Given the description of an element on the screen output the (x, y) to click on. 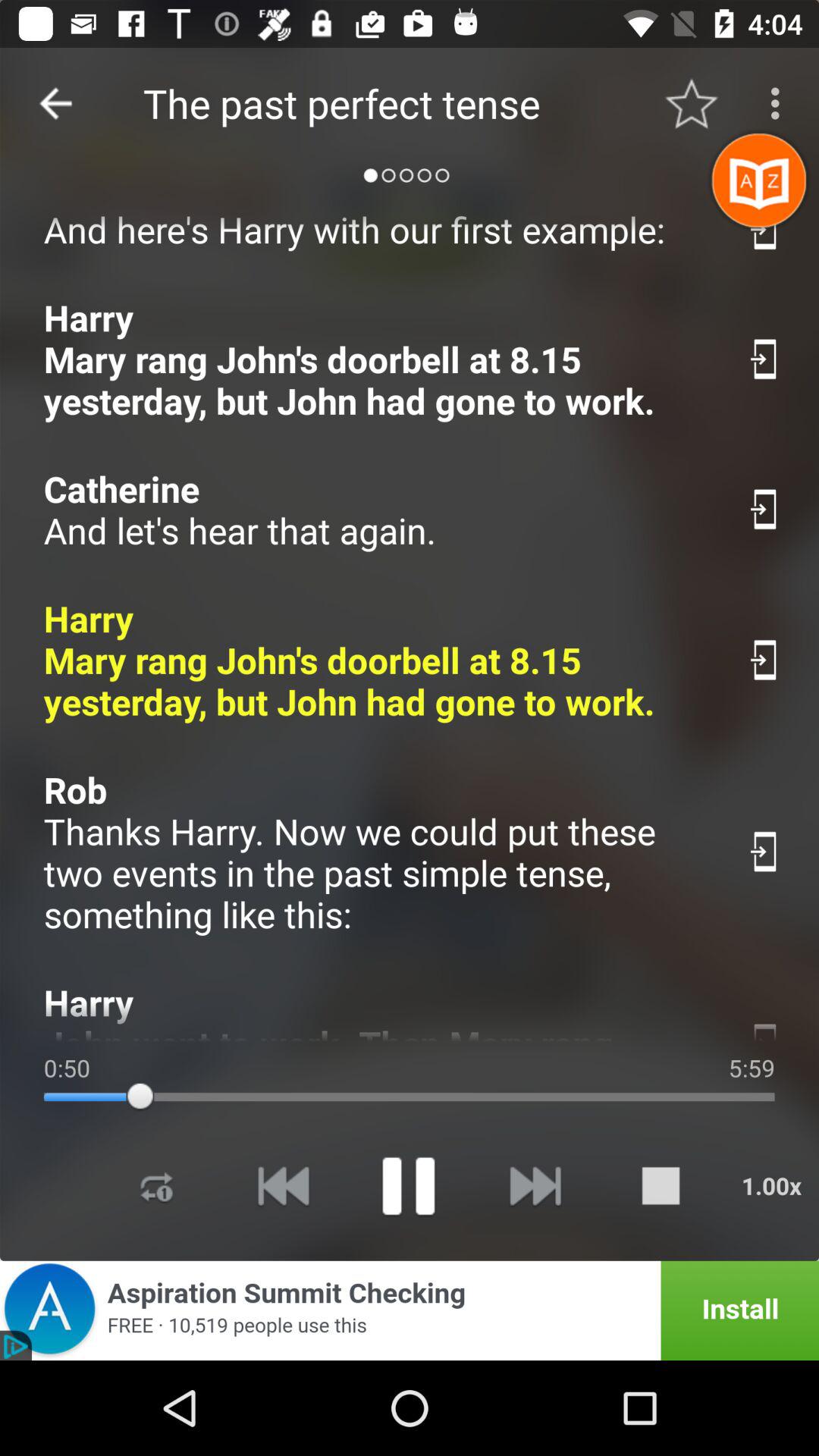
open the icon next to the the past perfect (55, 103)
